Given the description of an element on the screen output the (x, y) to click on. 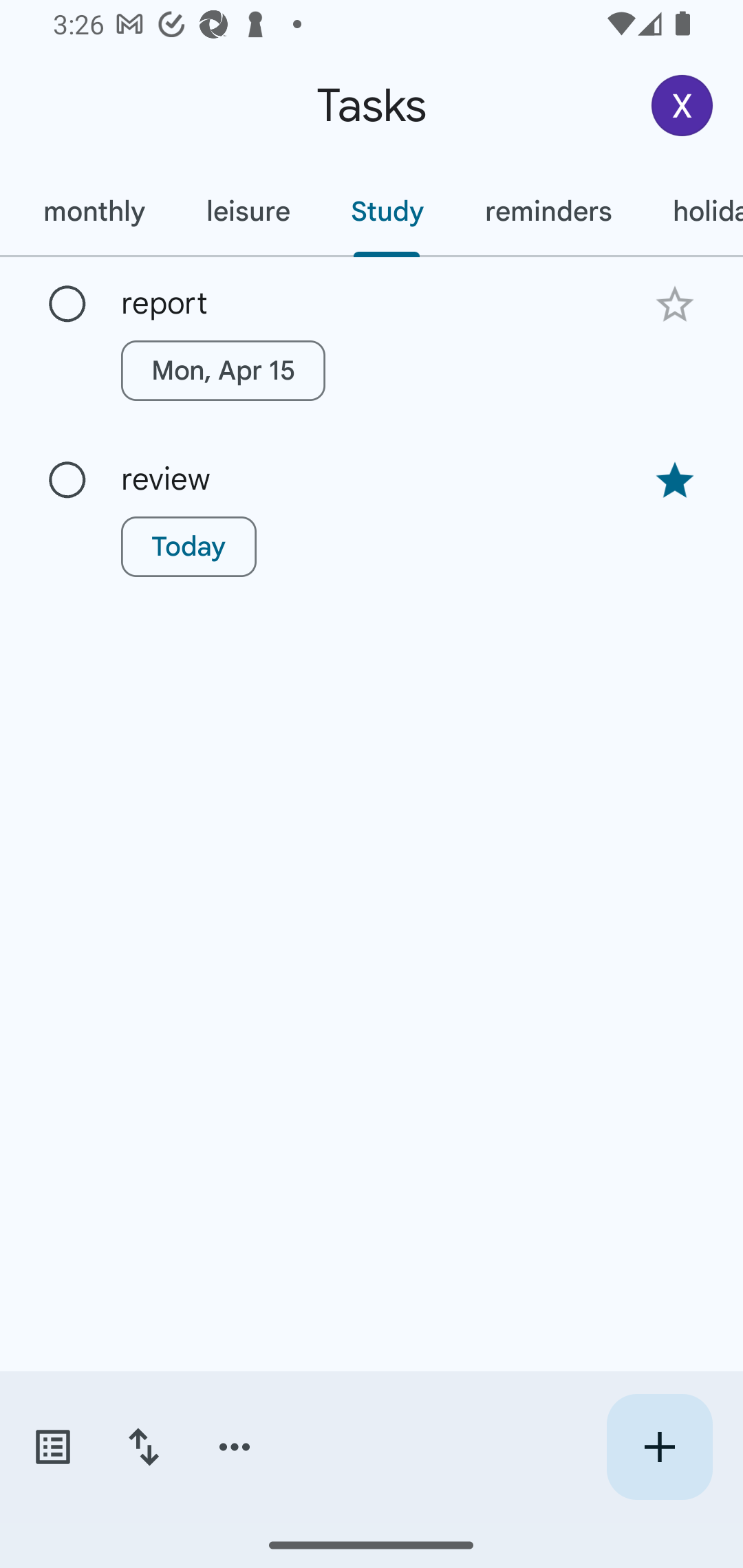
monthly (93, 211)
leisure (247, 211)
reminders (547, 211)
holiday planning (692, 211)
Add star (674, 303)
Mark as complete (67, 304)
Mon, Apr 15 (223, 369)
Remove star (674, 480)
Mark as complete (67, 480)
Today (188, 546)
Switch task lists (52, 1447)
Create new task (659, 1446)
Change sort order (143, 1446)
More options (234, 1446)
